Given the description of an element on the screen output the (x, y) to click on. 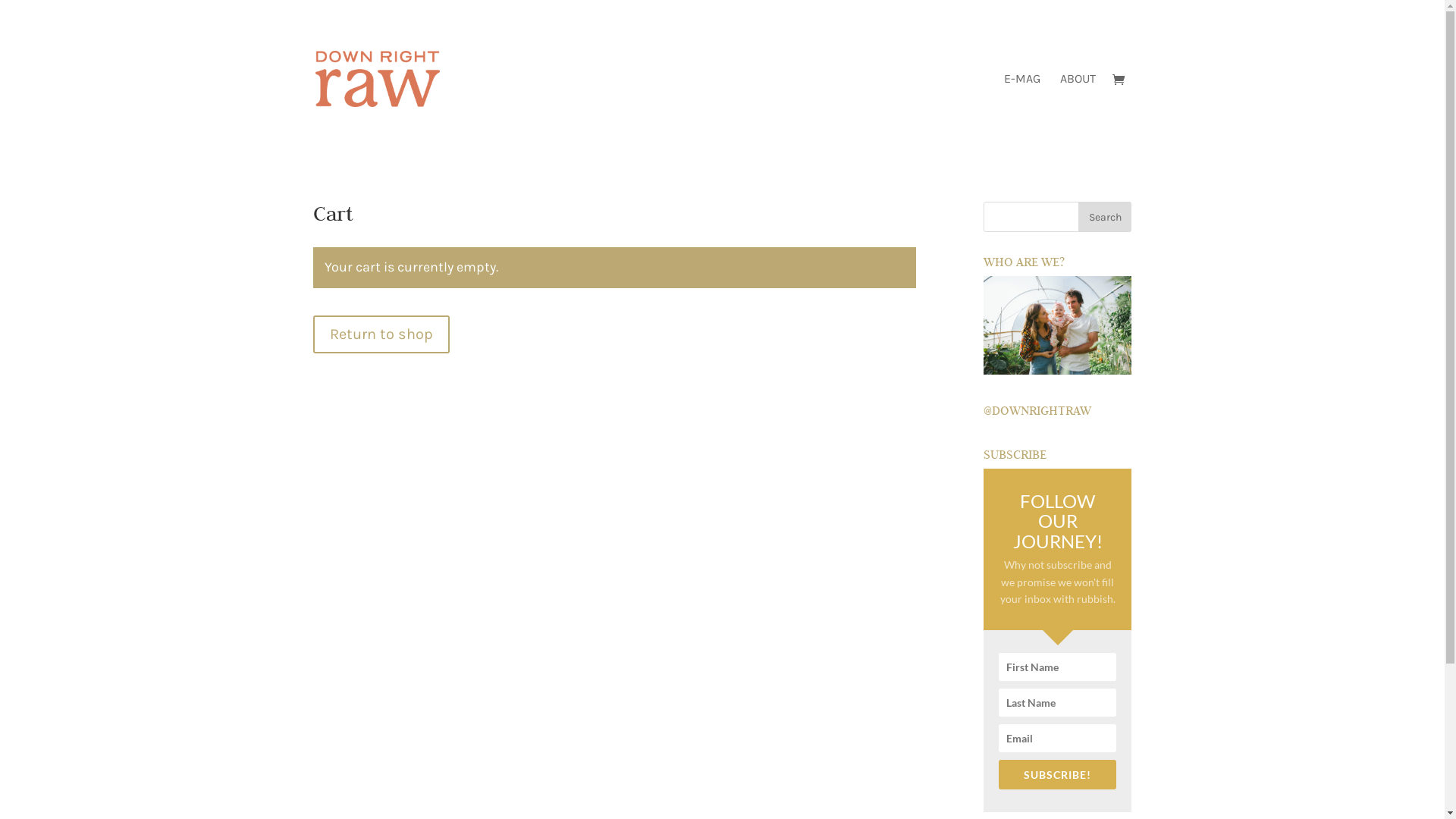
ABOUT Element type: text (1077, 115)
Who is Down Right Raw? Element type: hover (1057, 325)
E-MAG Element type: text (1022, 115)
Search Element type: text (1104, 216)
Return to shop Element type: text (380, 334)
SUBSCRIBE! Element type: text (1057, 774)
